Given the description of an element on the screen output the (x, y) to click on. 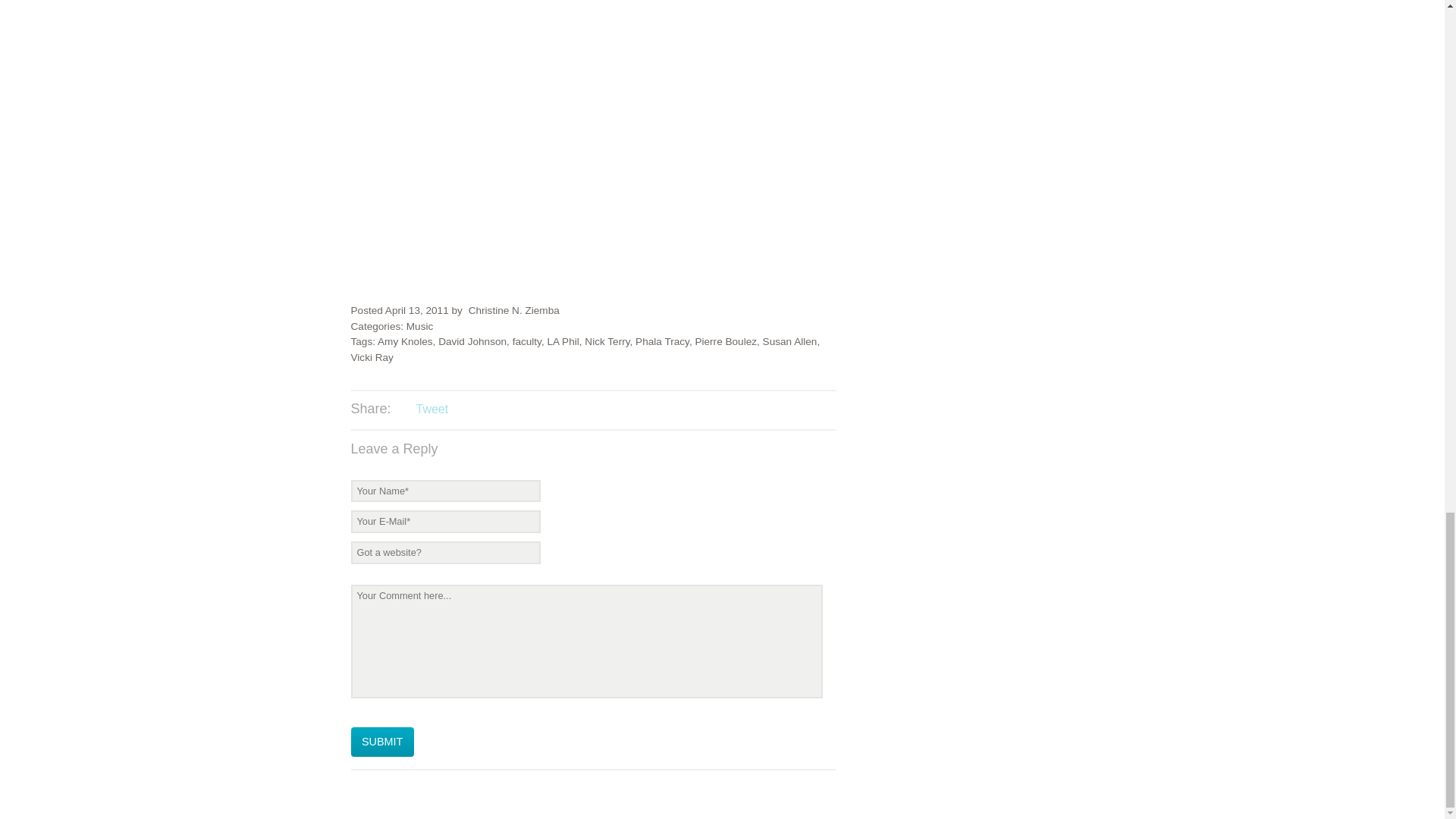
Amy Knoles (404, 341)
Nick Terry (606, 341)
Pierre Boulez (725, 341)
Music (419, 326)
Phala Tracy (661, 341)
Share on Tumblr (493, 409)
Share on Tumblr (493, 409)
Submit (381, 741)
David Johnson (472, 341)
Posts by Christine N. Ziemba (513, 310)
